Given the description of an element on the screen output the (x, y) to click on. 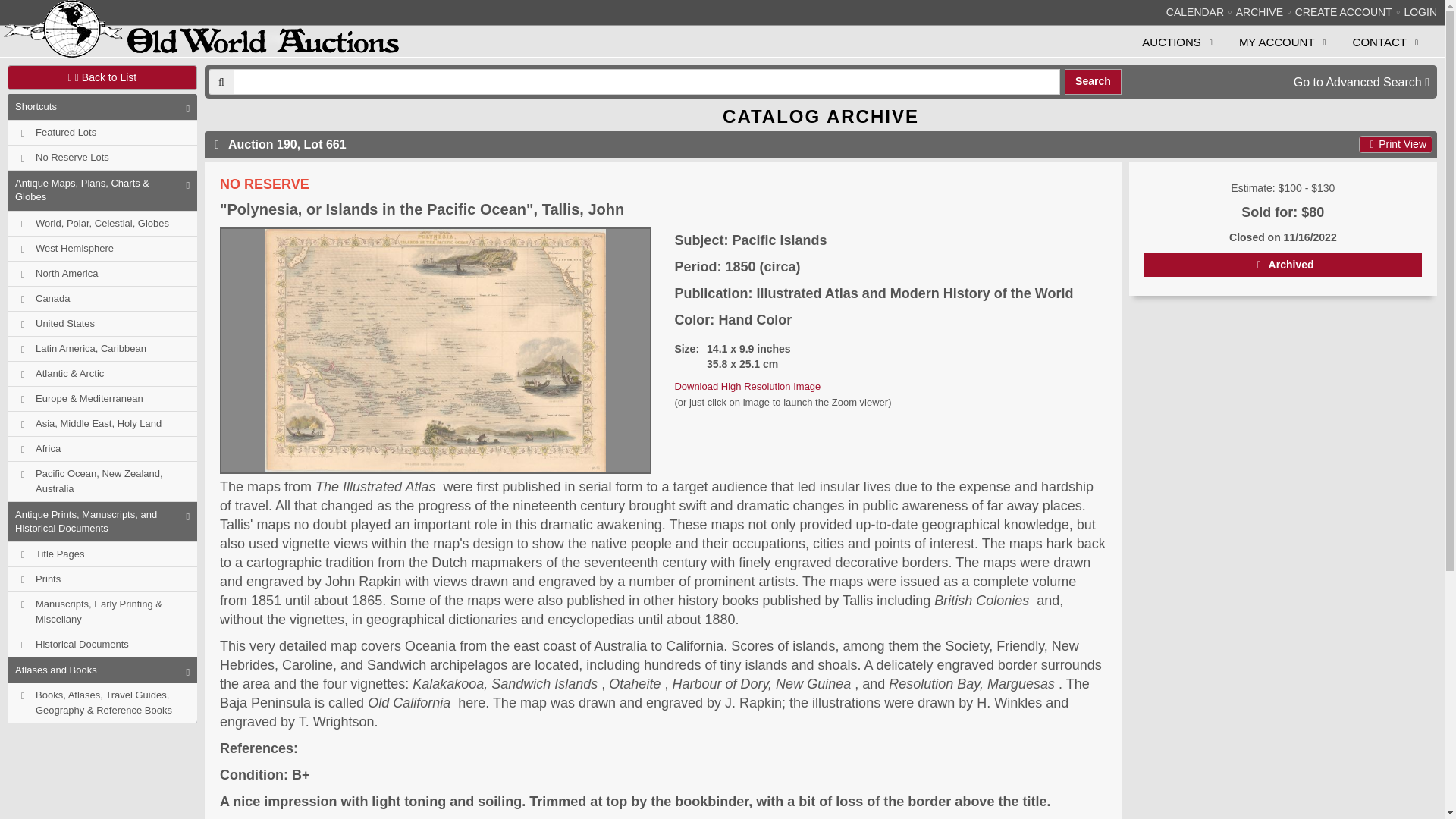
CALENDAR (1195, 11)
ARCHIVE (1259, 11)
LOGIN (1420, 11)
CREATE ACCOUNT (1343, 11)
